Given the description of an element on the screen output the (x, y) to click on. 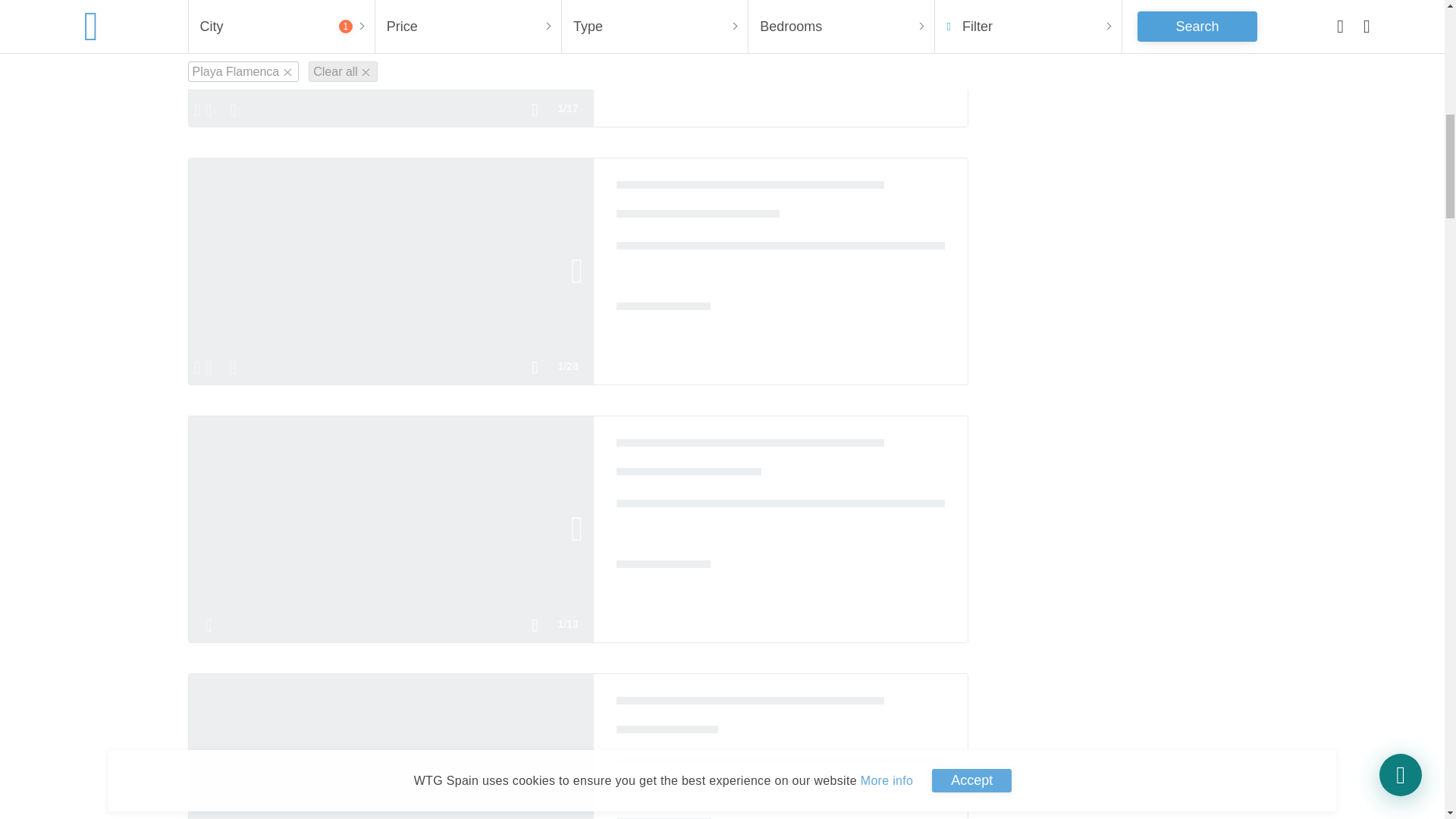
Apartment in Playa Flamenca (749, 705)
Apartments in Playa Flamenca (749, 447)
Apartments in Playa Flamenca (749, 189)
